Given the description of an element on the screen output the (x, y) to click on. 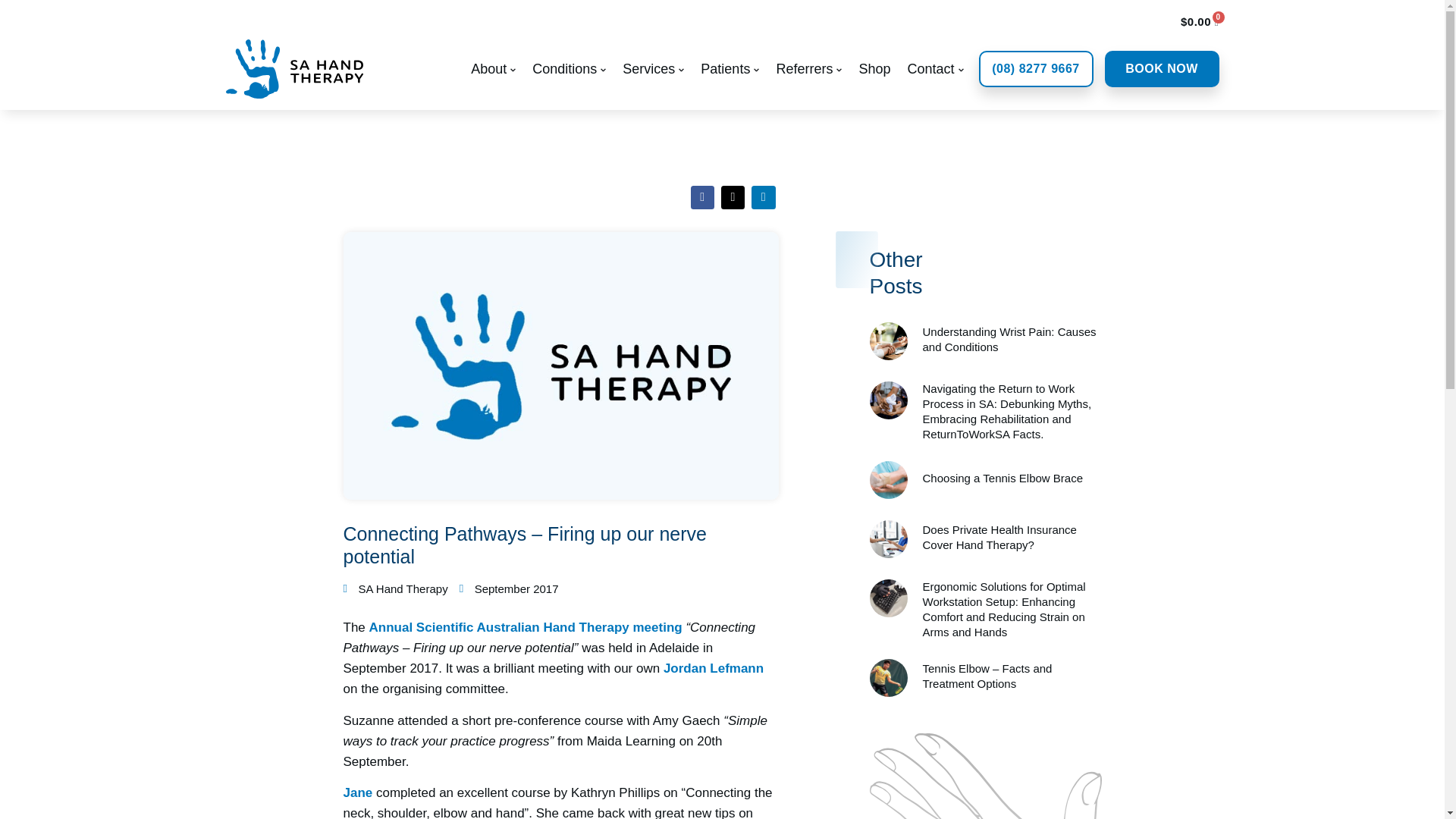
Conditions (568, 68)
Patients (729, 68)
Referrers (808, 68)
Understanding Wrist Pain: Causes and Conditions (888, 355)
Does Private Health Insurance Cover Hand Therapy? (888, 554)
About (492, 68)
Services (653, 68)
Choosing a Tennis Elbow Brace (888, 494)
